Given the description of an element on the screen output the (x, y) to click on. 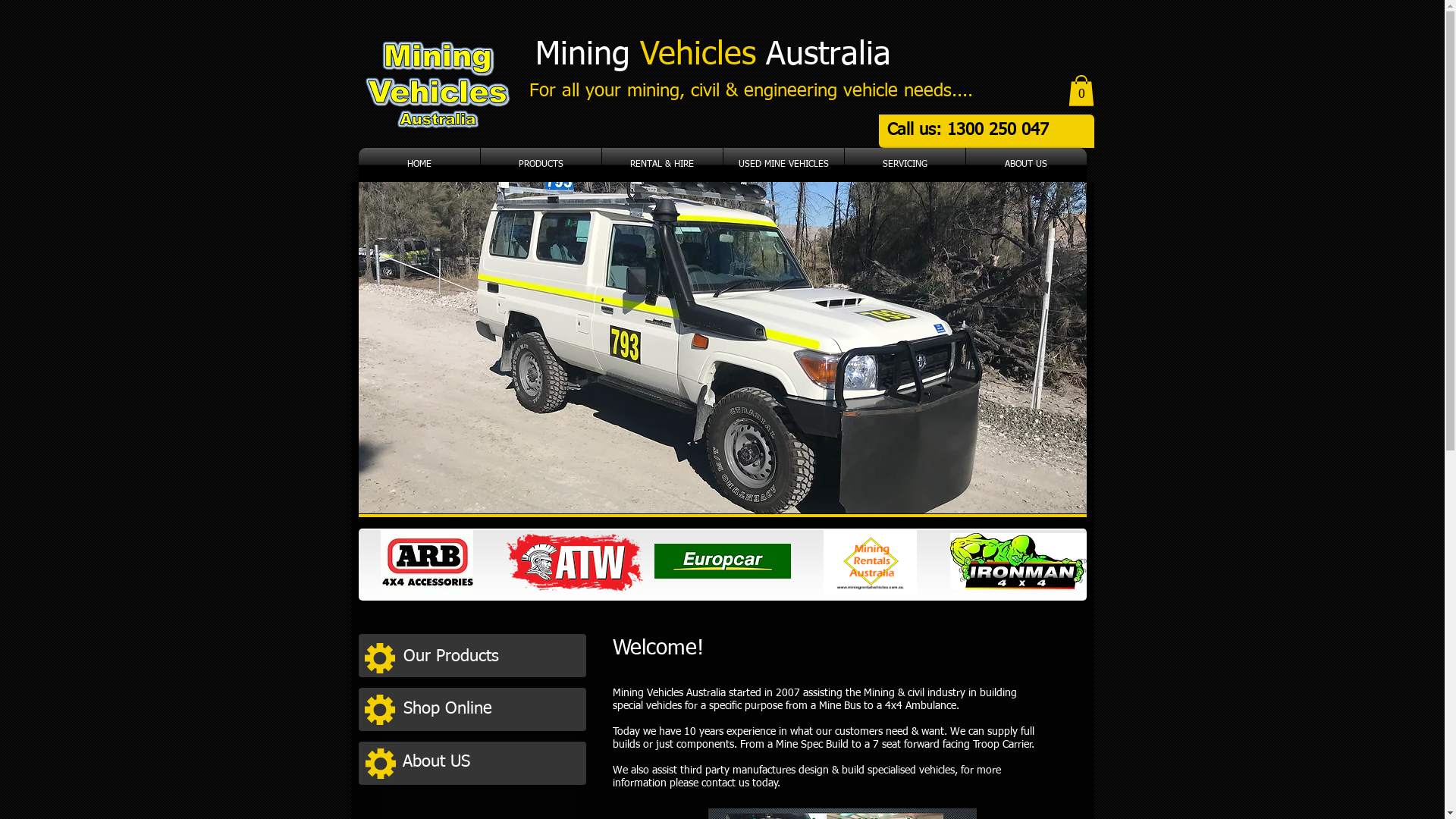
USED MINE VEHICLES Element type: text (783, 164)
HOME Element type: text (418, 164)
PRODUCTS Element type: text (540, 164)
Our Products Element type: text (490, 657)
SERVICING Element type: text (904, 164)
RENTAL & HIRE Element type: text (662, 164)
0 Element type: text (1080, 90)
Shop Online Element type: text (490, 709)
About US Element type: text (488, 762)
For all your mining, civil & engineering vehicle needs.... Element type: text (750, 90)
Mining Vehicles Australia  Element type: text (717, 54)
ABOUT US Element type: text (1026, 164)
logo_mine vehicles.png Element type: hover (436, 83)
